Given the description of an element on the screen output the (x, y) to click on. 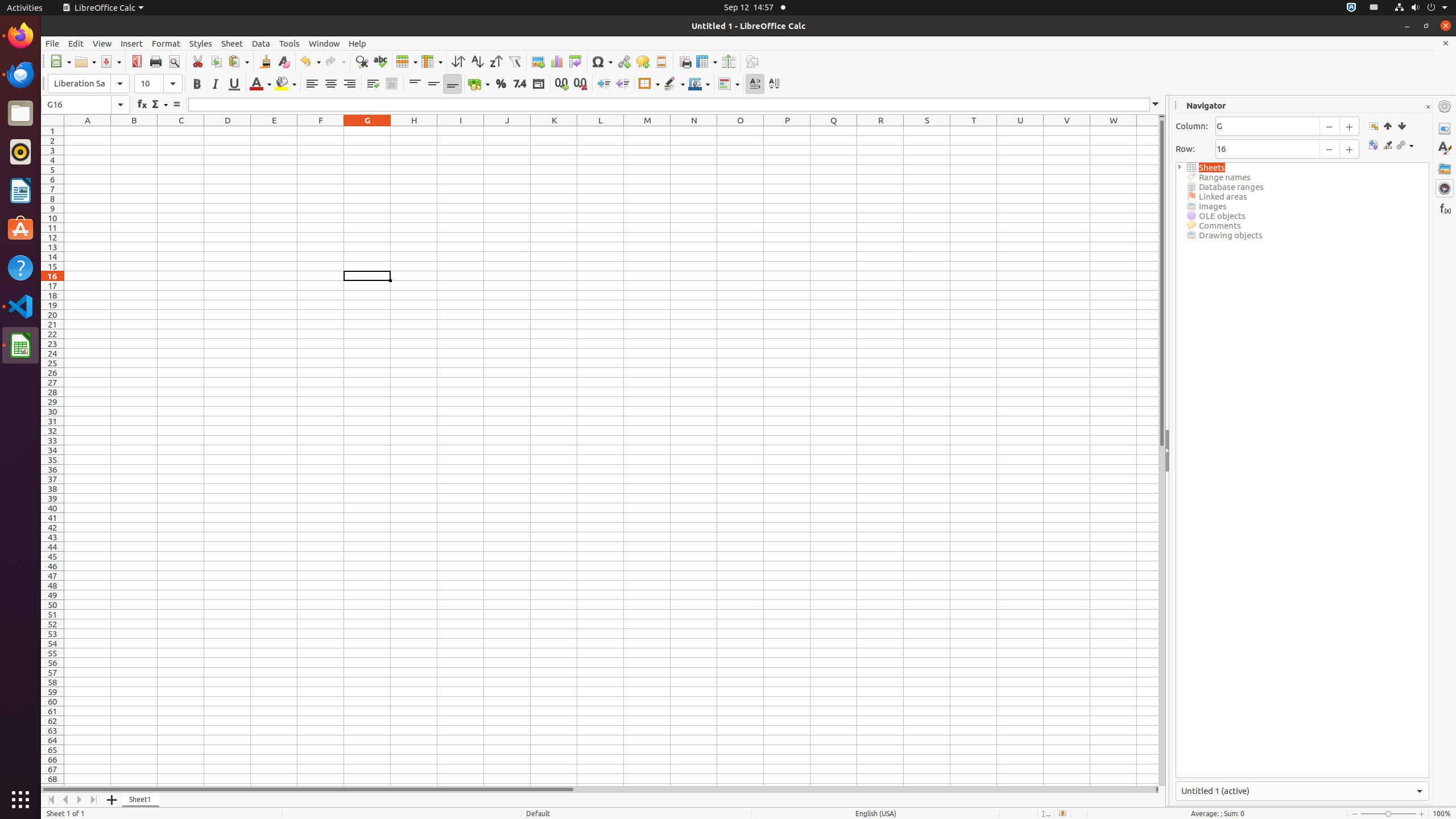
Move To End Element type: push-button (94, 799)
Functions Element type: radio-button (1444, 208)
J1 Element type: table-cell (507, 130)
Sort Element type: push-button (457, 61)
Align Bottom Element type: push-button (452, 83)
